Given the description of an element on the screen output the (x, y) to click on. 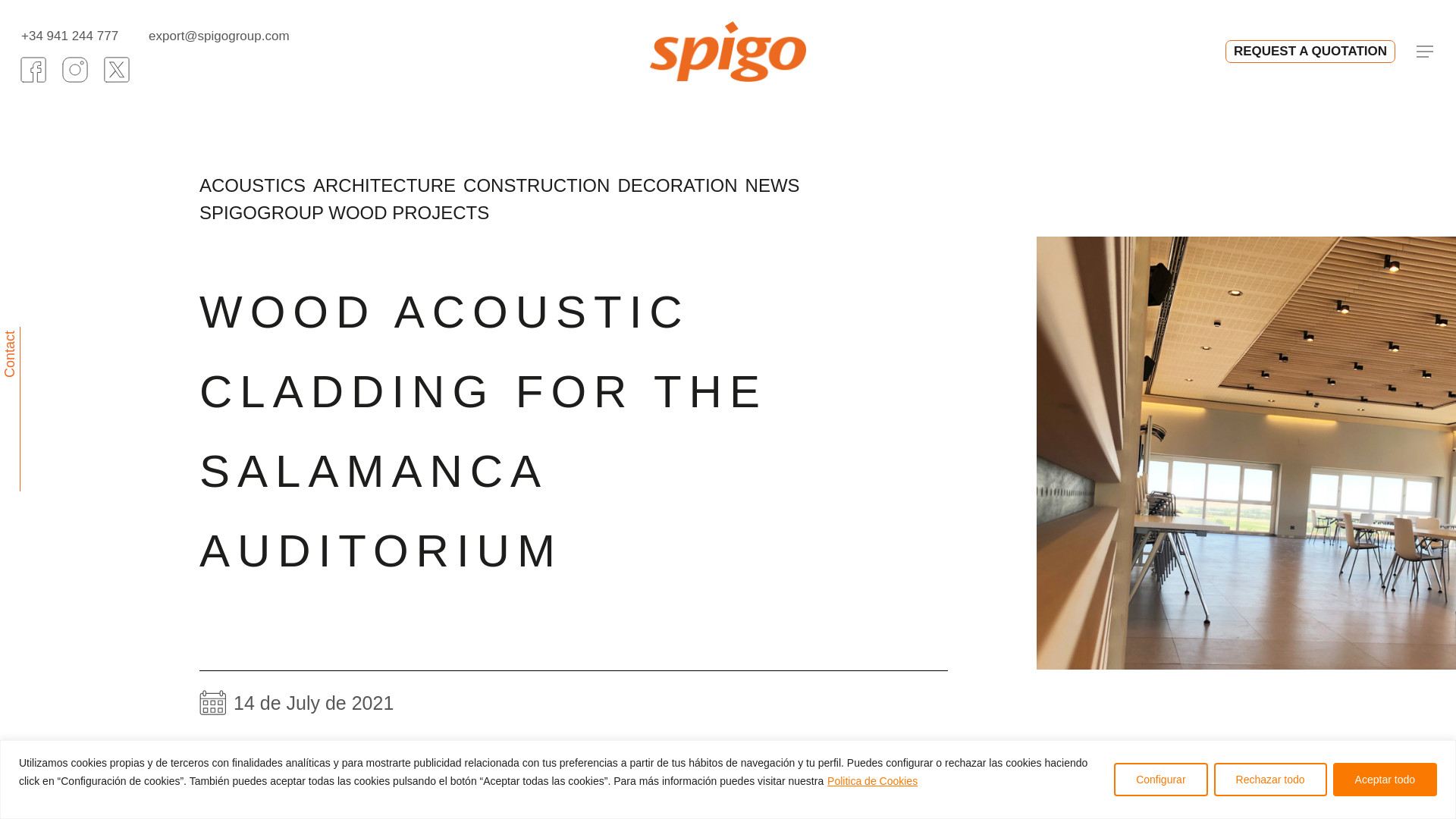
DECORATION (676, 185)
facebook (32, 69)
Aceptar todo (1385, 779)
ARCHITECTURE (384, 185)
twitter (116, 69)
Politica de Cookies (872, 780)
Configurar (1160, 779)
News (308, 800)
Home (269, 800)
CONSTRUCTION (536, 185)
